Given the description of an element on the screen output the (x, y) to click on. 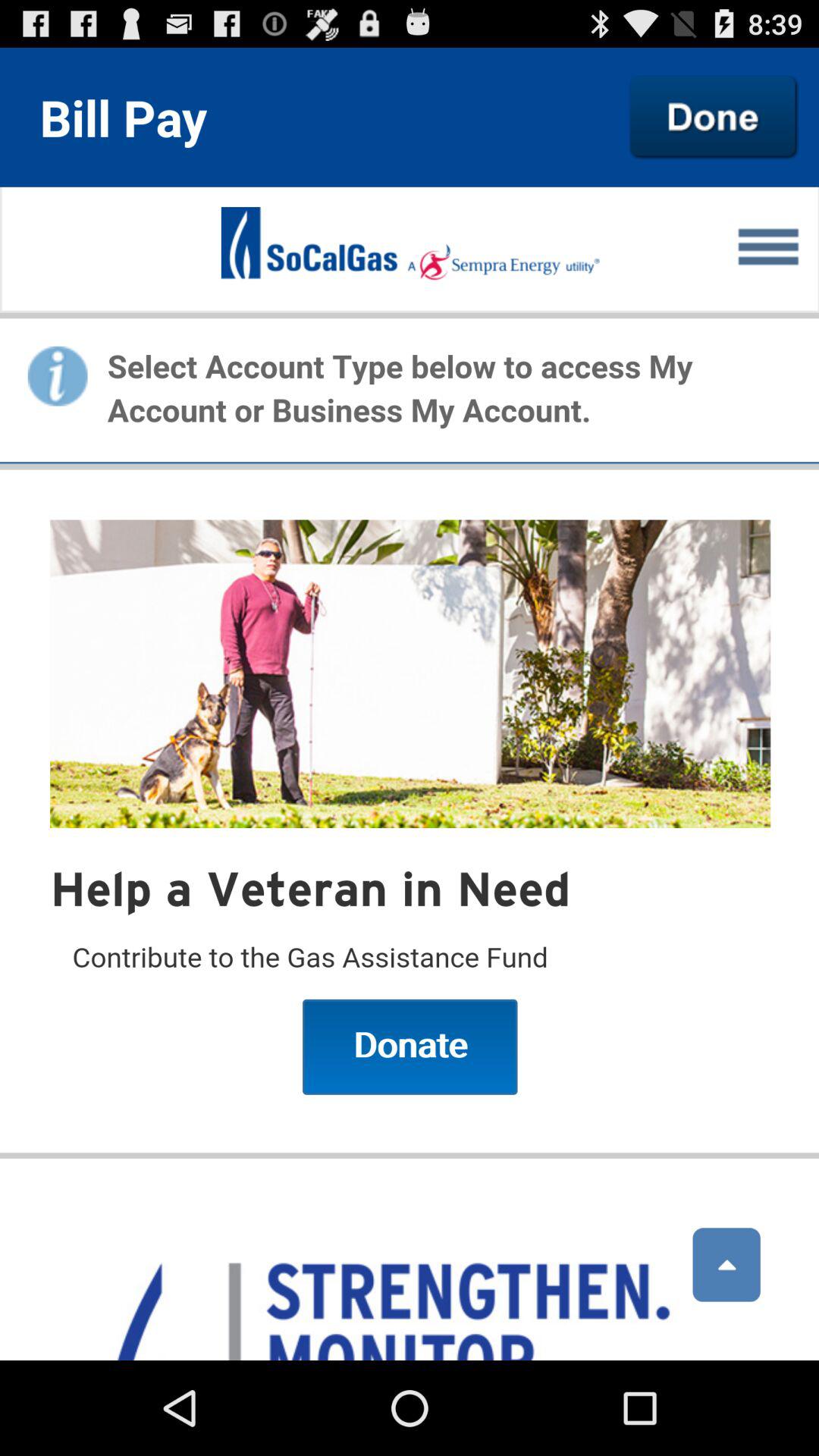
select account type (409, 773)
